Given the description of an element on the screen output the (x, y) to click on. 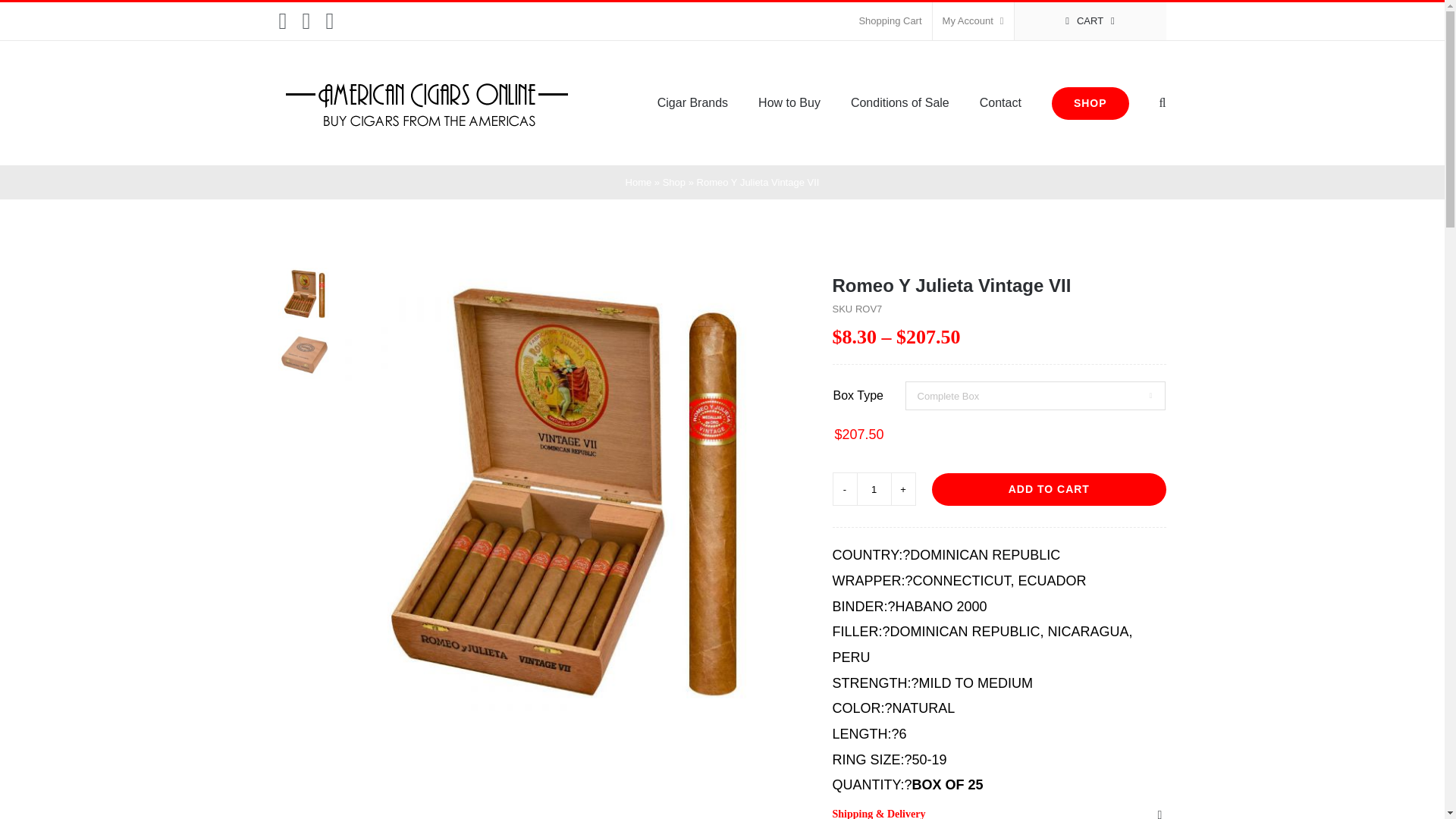
Shop (673, 182)
Log In (1034, 165)
CART (1090, 21)
Home (639, 182)
1 (874, 489)
Shopping Cart (889, 21)
My Account (973, 21)
